Given the description of an element on the screen output the (x, y) to click on. 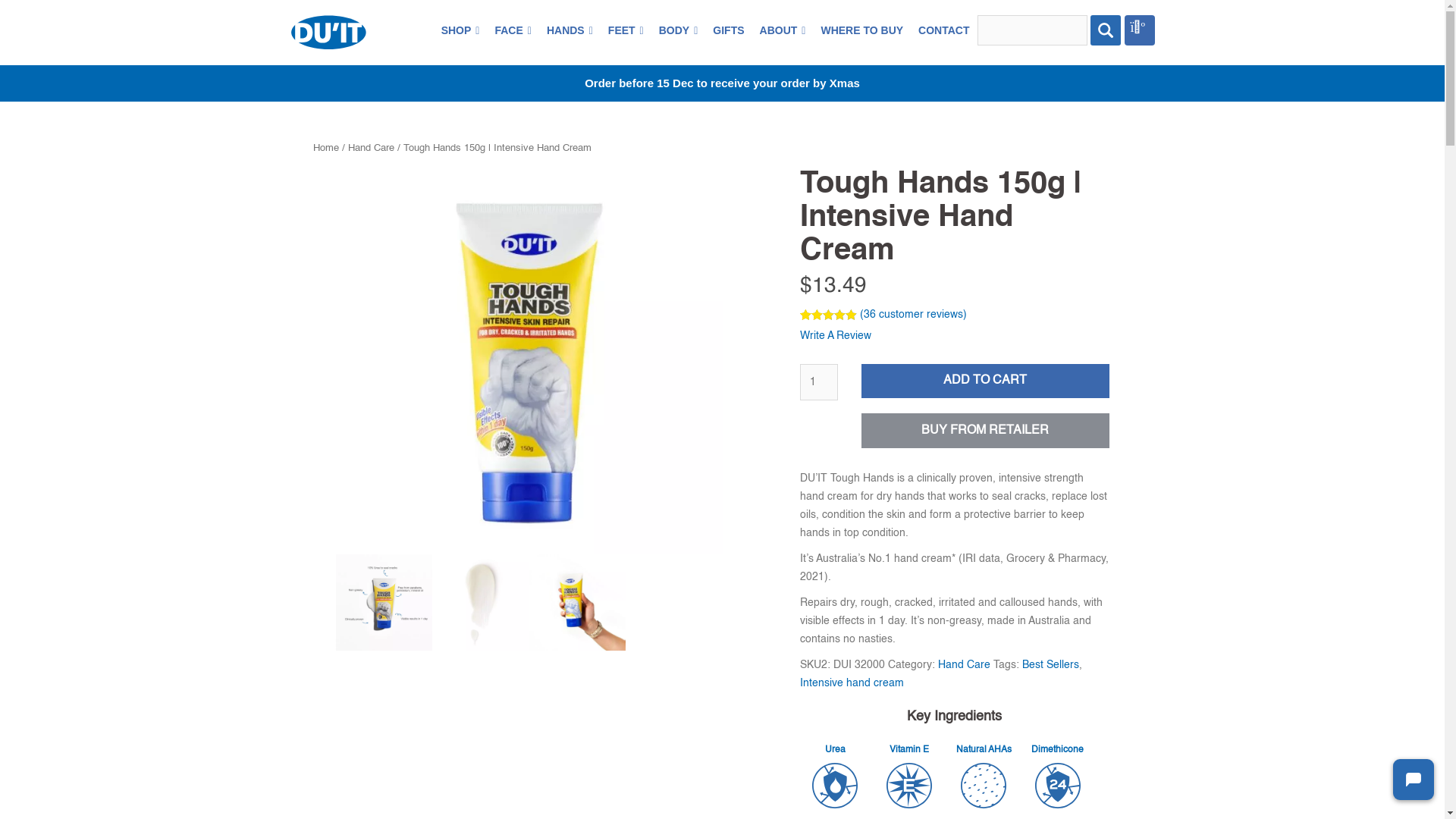
HANDS Element type: text (569, 29)
Write A Review Element type: text (834, 332)
BODY Element type: text (678, 29)
BUY FROM RETAILER Element type: text (984, 430)
WHERE TO BUY Element type: text (861, 29)
(36 customer reviews) Element type: text (912, 314)
ABOUT Element type: text (782, 29)
Hand Care Element type: text (963, 664)
DU'IT Element type: hover (327, 31)
FACE Element type: text (512, 29)
CONTACT Element type: text (943, 29)
Best Sellers Element type: text (1050, 664)
FEET Element type: text (625, 29)
Tough Hands 150g Element type: hover (528, 360)
ADD TO CART Element type: text (984, 381)
SHOP Element type: text (460, 29)
Intensive hand cream Element type: text (851, 682)
DUIT-Tough-Hands Element type: hover (577, 602)
GIFTS Element type: text (728, 29)
Home Element type: text (325, 148)
2 PRODUCT Benefits 1280px-01 Element type: hover (383, 602)
TH swatch Element type: hover (480, 602)
Start shopping Element type: hover (1138, 30)
Hand Care Element type: text (370, 148)
